Given the description of an element on the screen output the (x, y) to click on. 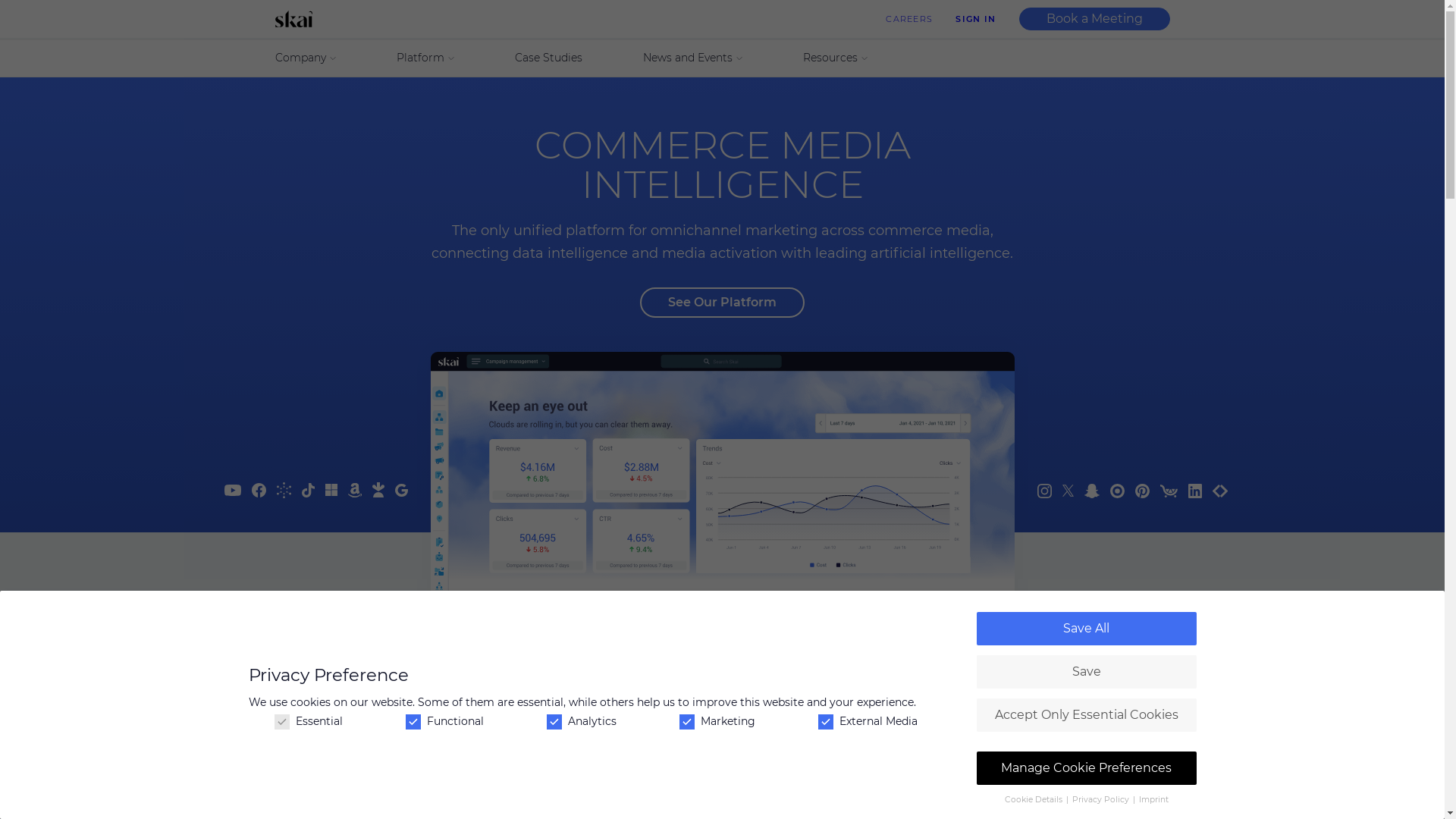
Privacy Policy Element type: text (1101, 799)
Manage Cookie Preferences Element type: text (1086, 767)
Save Element type: text (1086, 671)
Cookie Details Element type: text (1032, 799)
Imprint Element type: text (1153, 799)
See Our Platform Element type: text (722, 302)
Case Studies Element type: text (547, 58)
Accept Only Essential Cookies Element type: text (1086, 714)
CAREERS Element type: text (908, 18)
Save All Element type: text (1086, 628)
SIGN IN Element type: text (975, 18)
Book a Meeting Element type: text (1094, 18)
Home Page Element type: hover (297, 18)
